Given the description of an element on the screen output the (x, y) to click on. 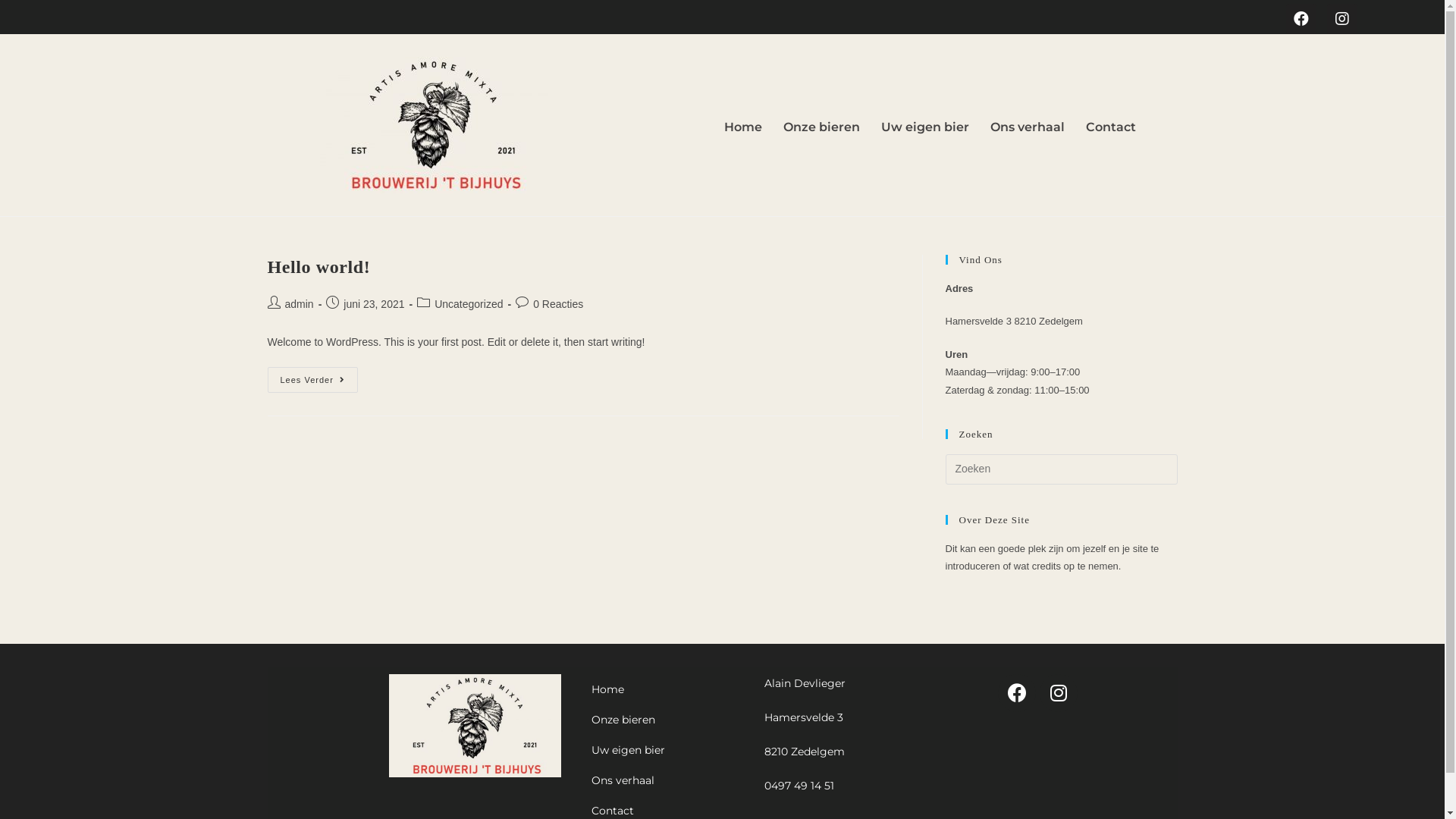
admin Element type: text (299, 304)
Uw eigen bier Element type: text (924, 126)
Uncategorized Element type: text (468, 304)
Hello world! Element type: text (318, 266)
Onze bieren Element type: text (662, 719)
Onze bieren Element type: text (821, 126)
Ons verhaal Element type: text (1027, 126)
Lees Verder Element type: text (311, 379)
0 Reacties Element type: text (558, 304)
Contact Element type: text (1110, 126)
Uw eigen bier Element type: text (662, 749)
Home Element type: text (662, 689)
Ons verhaal Element type: text (662, 780)
Home Element type: text (742, 126)
